Given the description of an element on the screen output the (x, y) to click on. 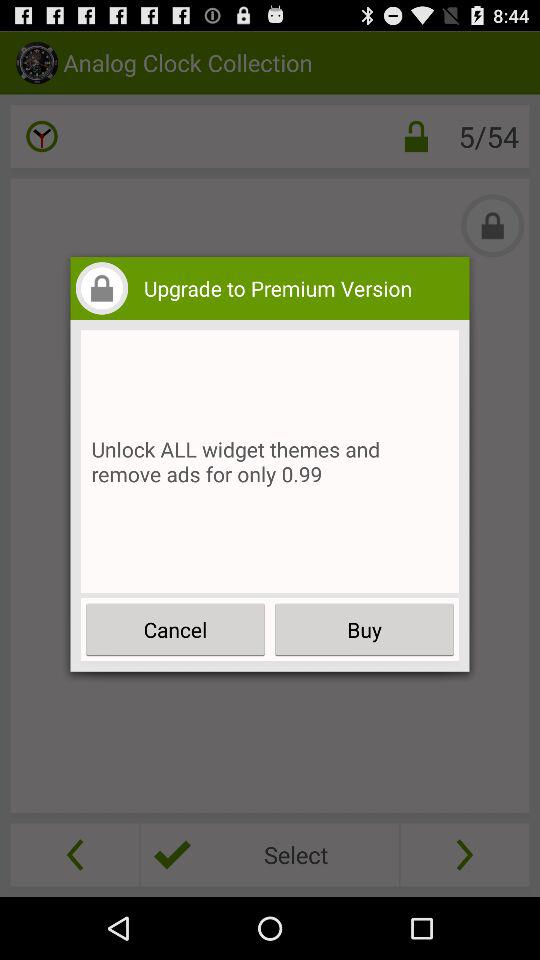
open icon on the right (364, 629)
